Given the description of an element on the screen output the (x, y) to click on. 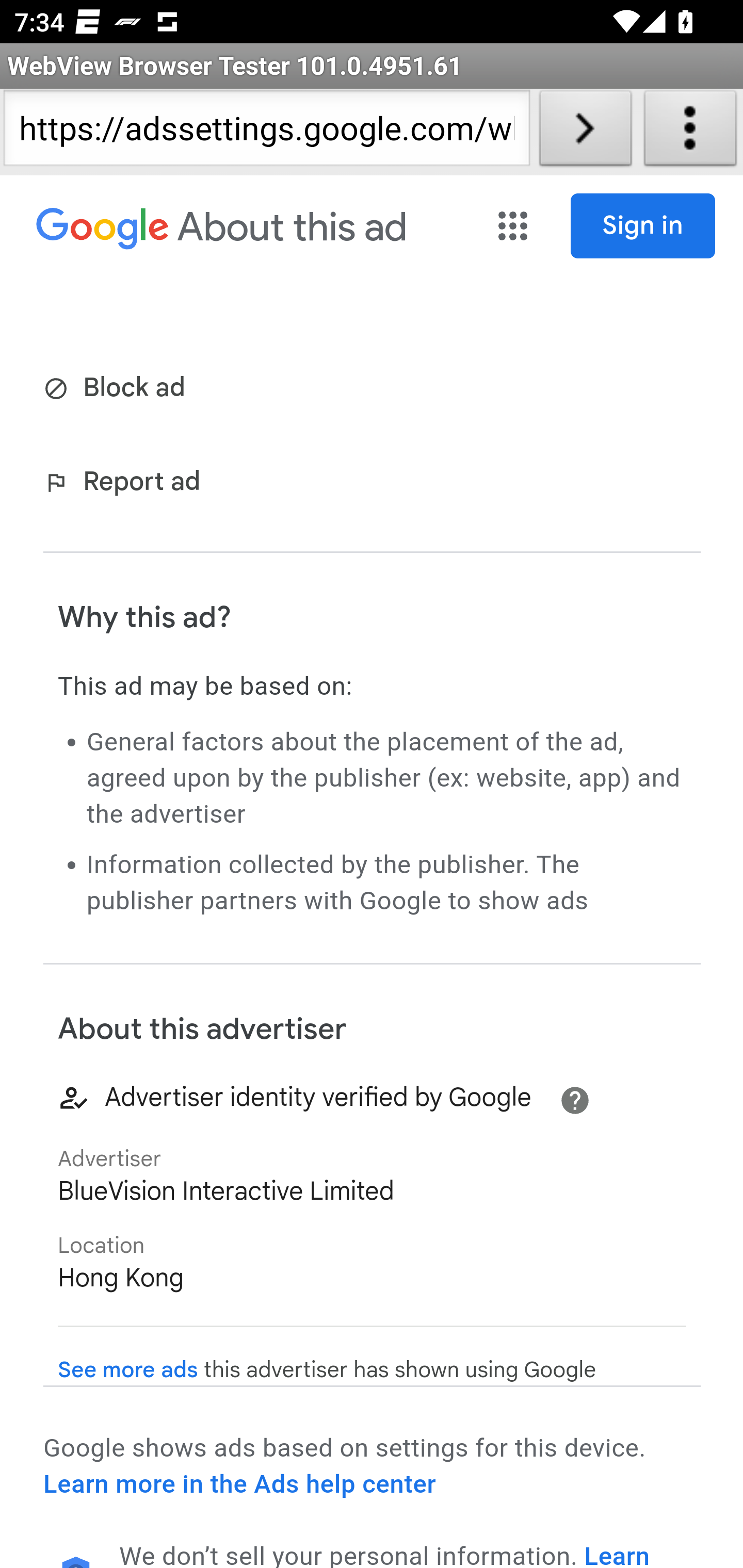
https://adssettings.google.com/whythisad (266, 132)
Load URL (585, 132)
About WebView (690, 132)
Google apps (514, 226)
Sign in (643, 226)
Block ad (117, 388)
Report ad (opens in new tab) Report ad (126, 483)
See more ads (opens in new tab) See more ads (127, 1370)
Learn more in the Ads help center (239, 1483)
Learn how ad personalization works (384, 1553)
